Given the description of an element on the screen output the (x, y) to click on. 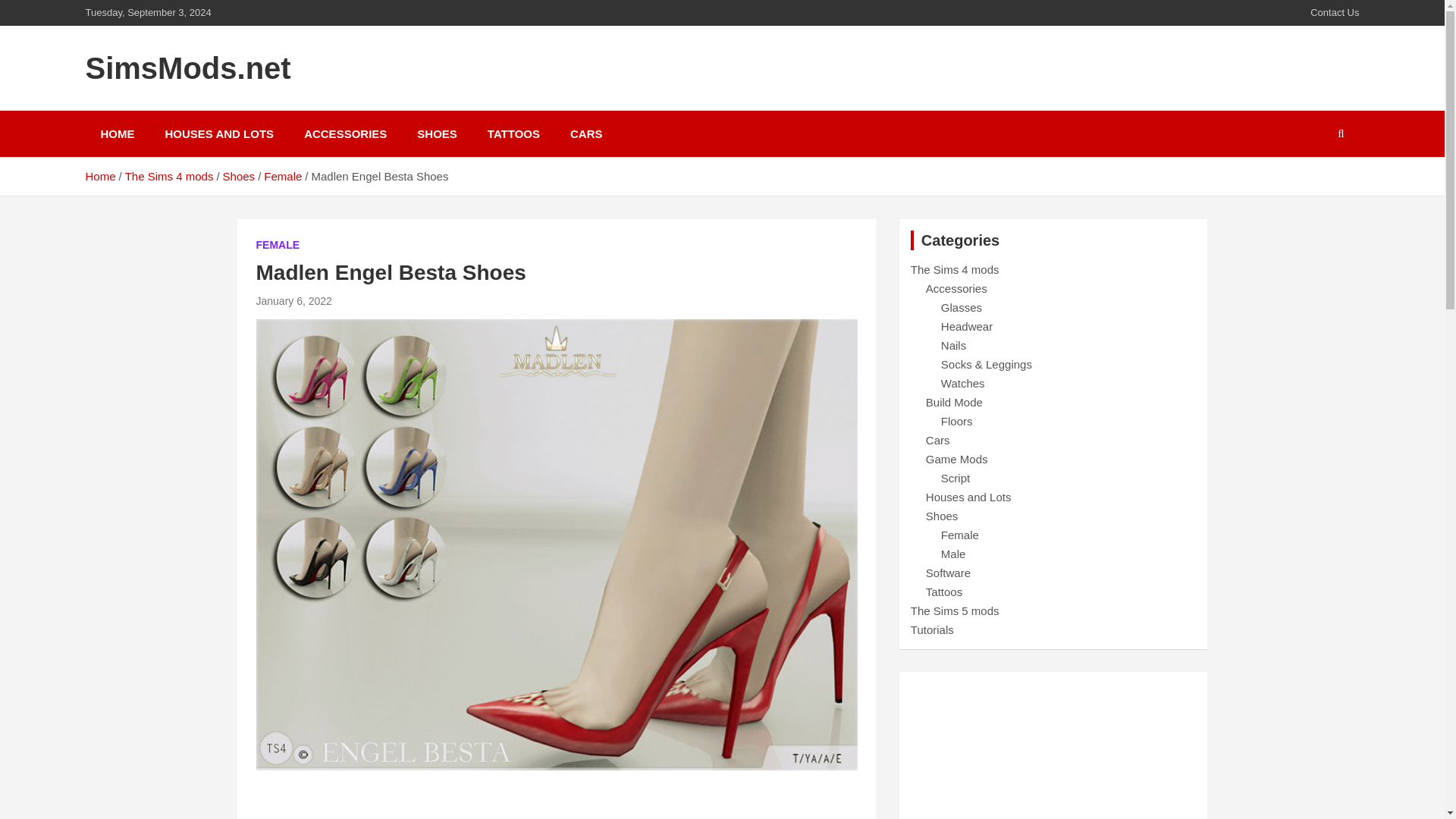
Accessories (956, 287)
Female (282, 175)
The Sims 4 mods (169, 175)
Home (99, 175)
Advertisement (1053, 751)
January 6, 2022 (293, 300)
HOME (116, 133)
SimsMods.net (186, 68)
FEMALE (277, 245)
Madlen Engel Besta Shoes (293, 300)
